Given the description of an element on the screen output the (x, y) to click on. 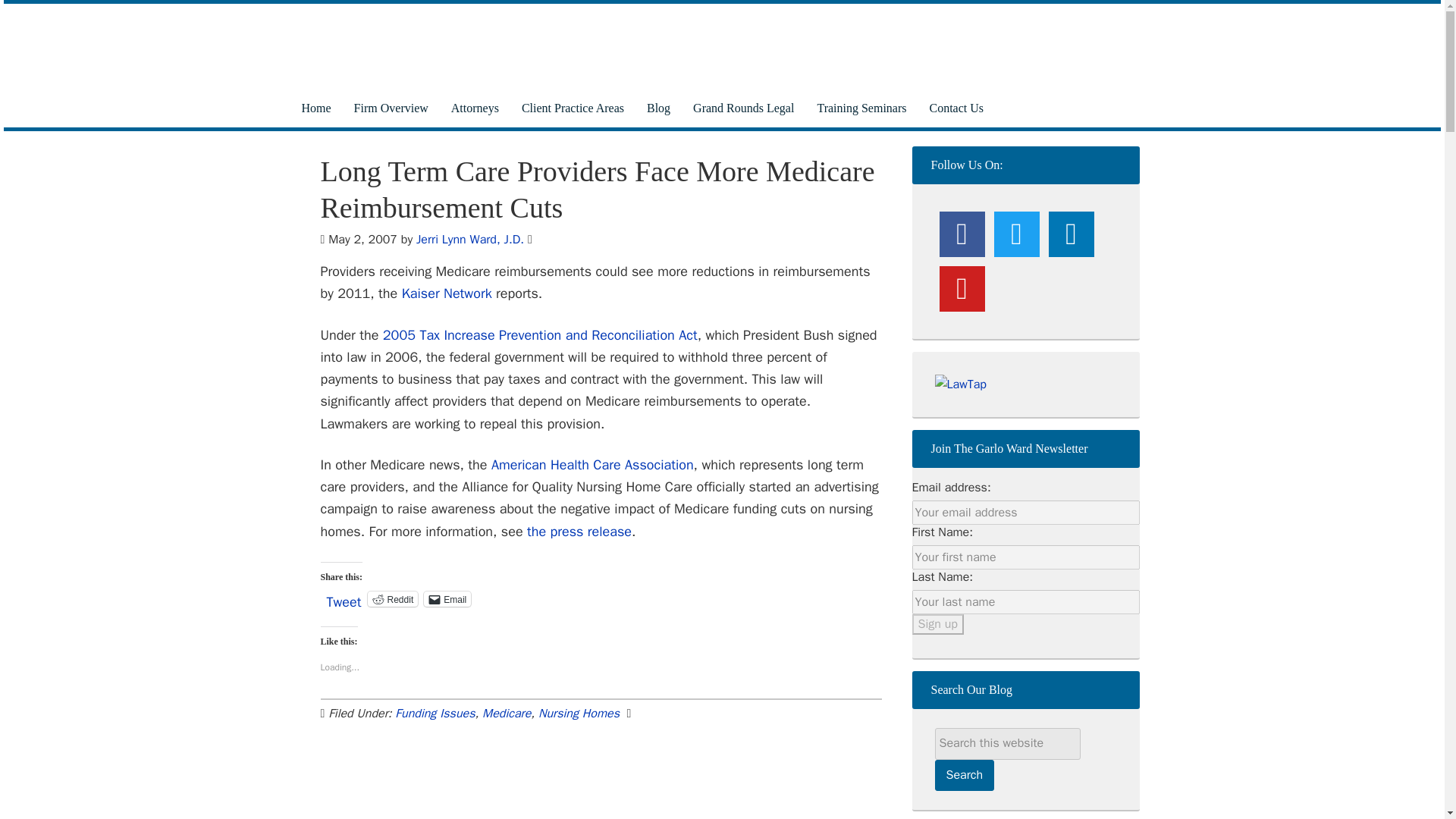
Grand Rounds Legal (743, 108)
Garlo Ward, P.C. (706, 46)
Firm Overview (390, 108)
Search (964, 775)
2005 Tax Increase Prevention and Reconciliation Act (539, 334)
Click to share on Reddit (393, 598)
Training Seminars (861, 108)
Home (315, 108)
Funding Issues (434, 713)
Search (964, 775)
